Given the description of an element on the screen output the (x, y) to click on. 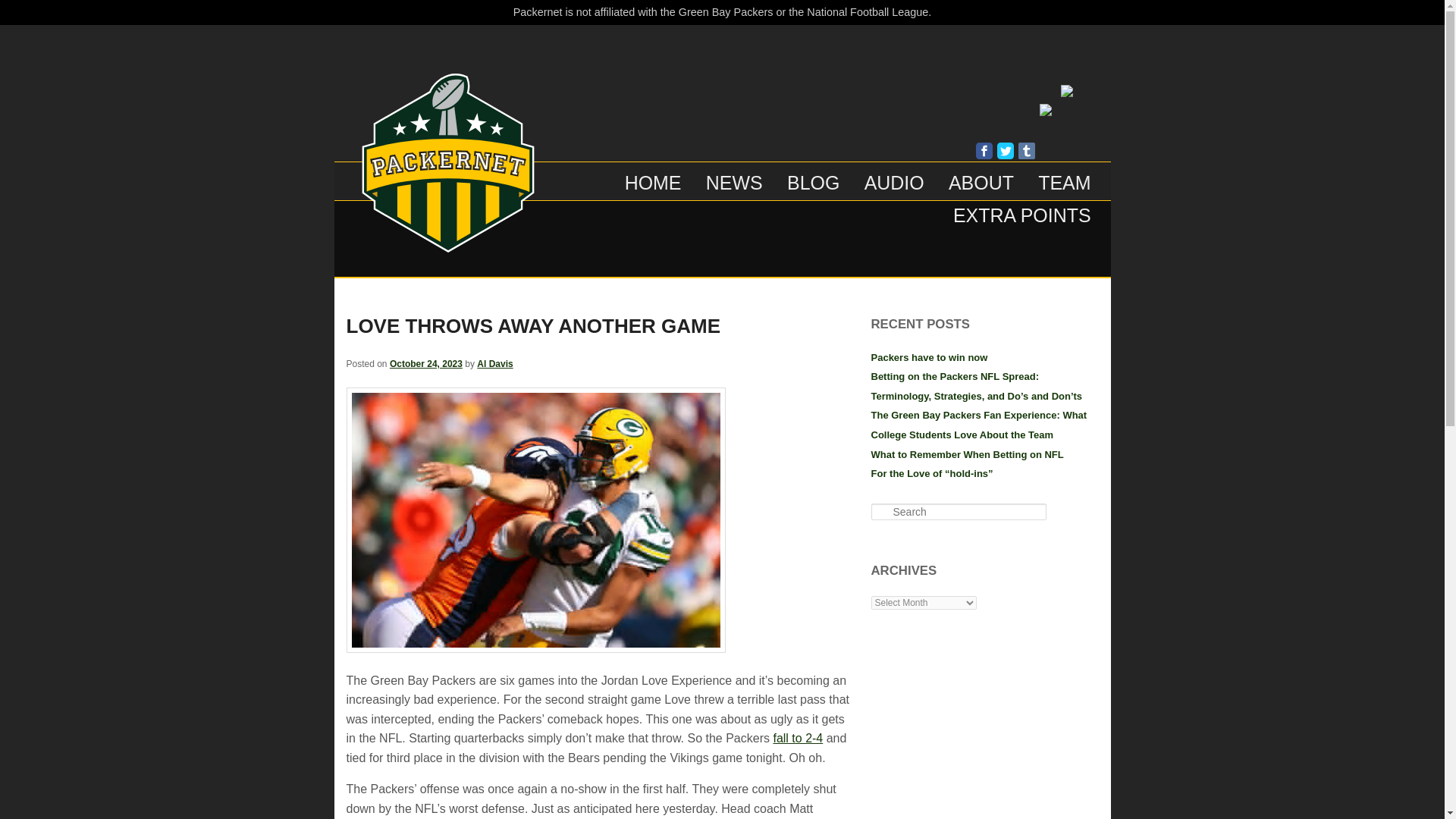
BLOG (813, 178)
AUDIO (893, 178)
NEWS (733, 178)
ABOUT (980, 178)
8:32 pm (426, 363)
HOME (653, 178)
Home (447, 247)
View all posts by Al Davis (494, 363)
